Given the description of an element on the screen output the (x, y) to click on. 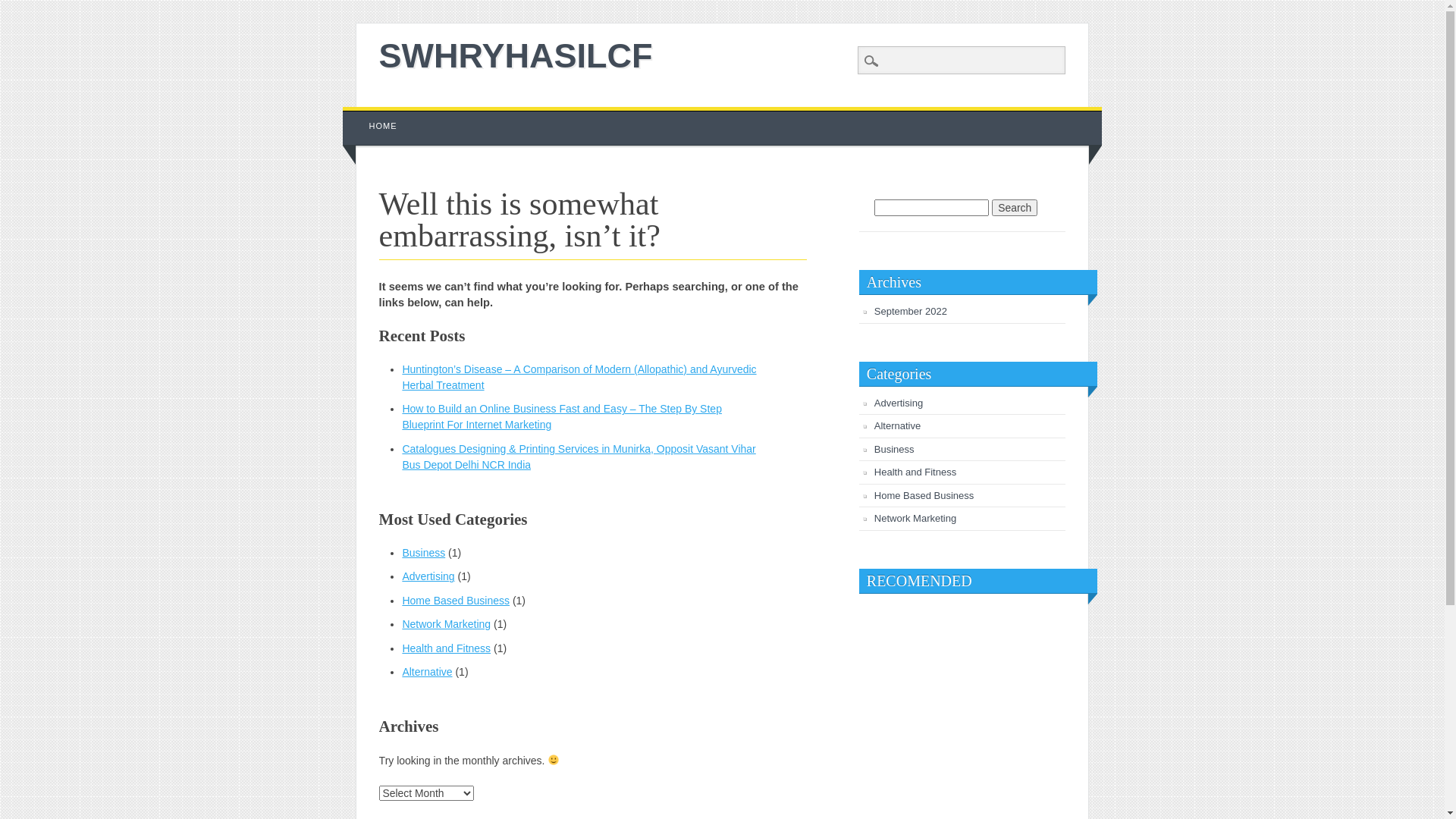
Search Element type: text (22, 8)
HOME Element type: text (383, 125)
Advertising Element type: text (427, 576)
Home Based Business Element type: text (455, 600)
Business Element type: text (423, 552)
Health and Fitness Element type: text (915, 471)
September 2022 Element type: text (910, 310)
Business Element type: text (894, 449)
Network Marketing Element type: text (445, 624)
Health and Fitness Element type: text (445, 648)
Advertising Element type: text (898, 402)
Network Marketing Element type: text (915, 518)
Alternative Element type: text (426, 671)
Home Based Business Element type: text (924, 495)
SWHRYHASILCF Element type: text (515, 55)
Skip to content Element type: text (377, 114)
Search Element type: text (1014, 207)
Alternative Element type: text (897, 425)
